Given the description of an element on the screen output the (x, y) to click on. 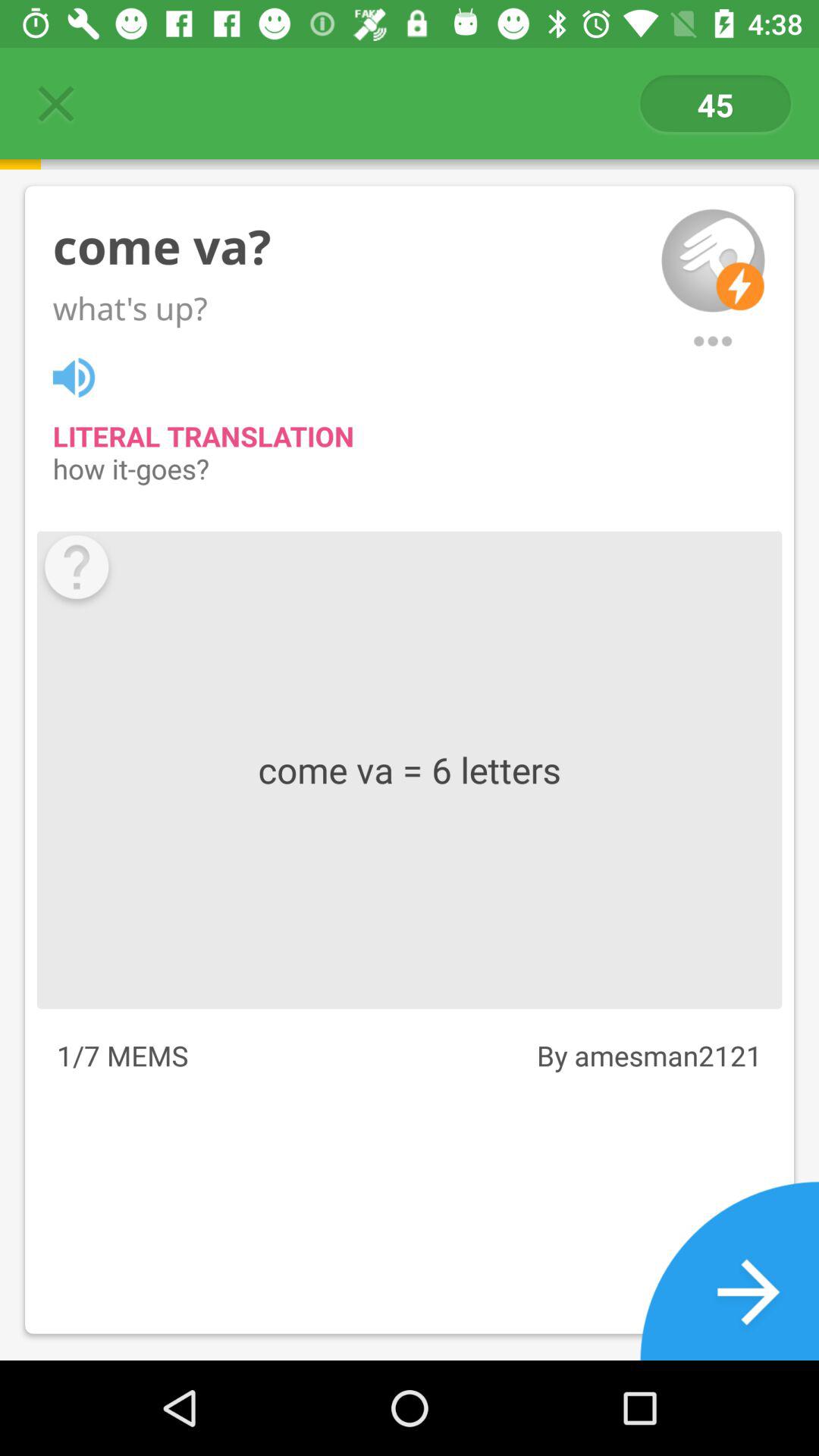
open help (76, 570)
